Given the description of an element on the screen output the (x, y) to click on. 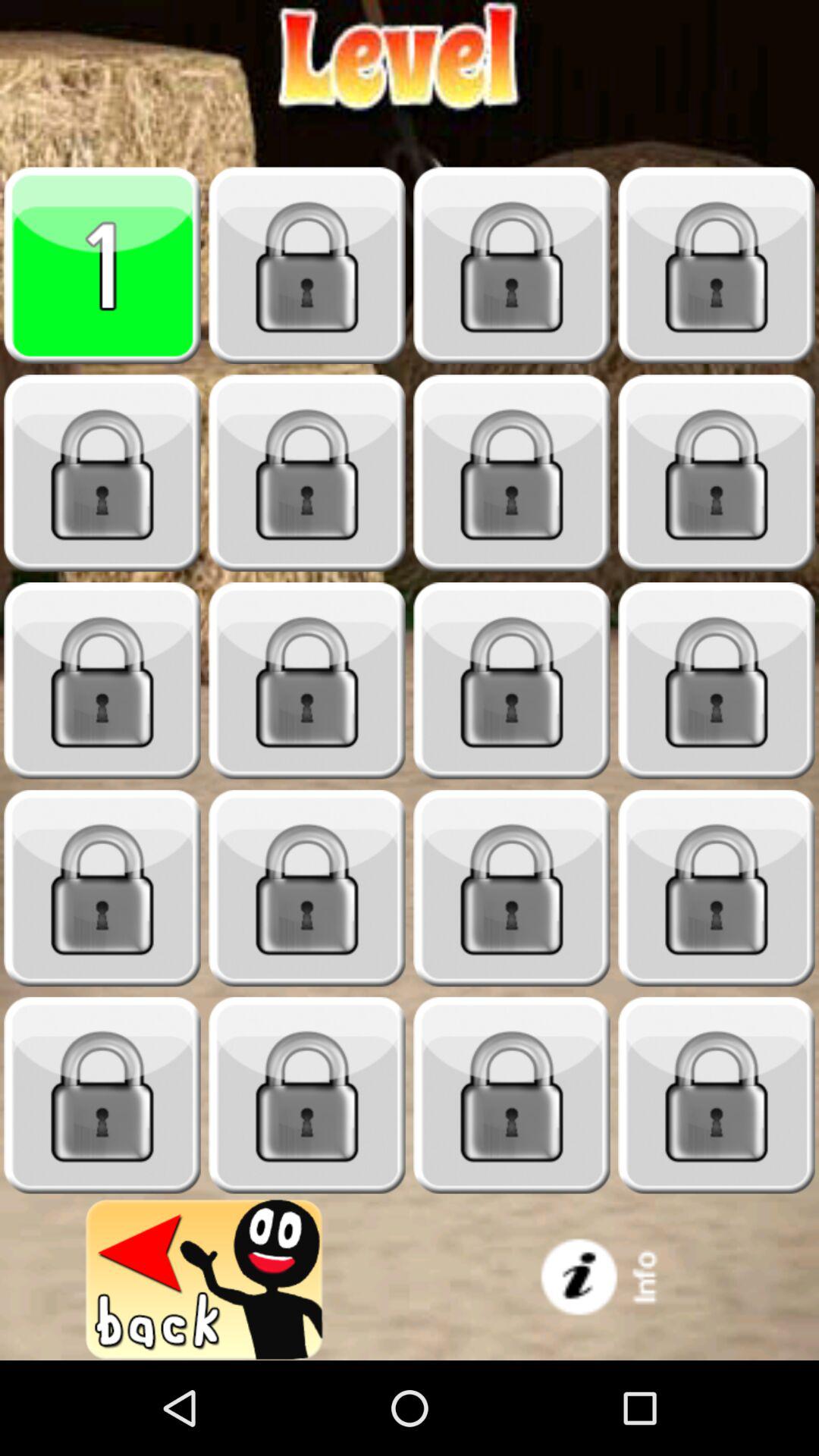
key button (306, 265)
